Given the description of an element on the screen output the (x, y) to click on. 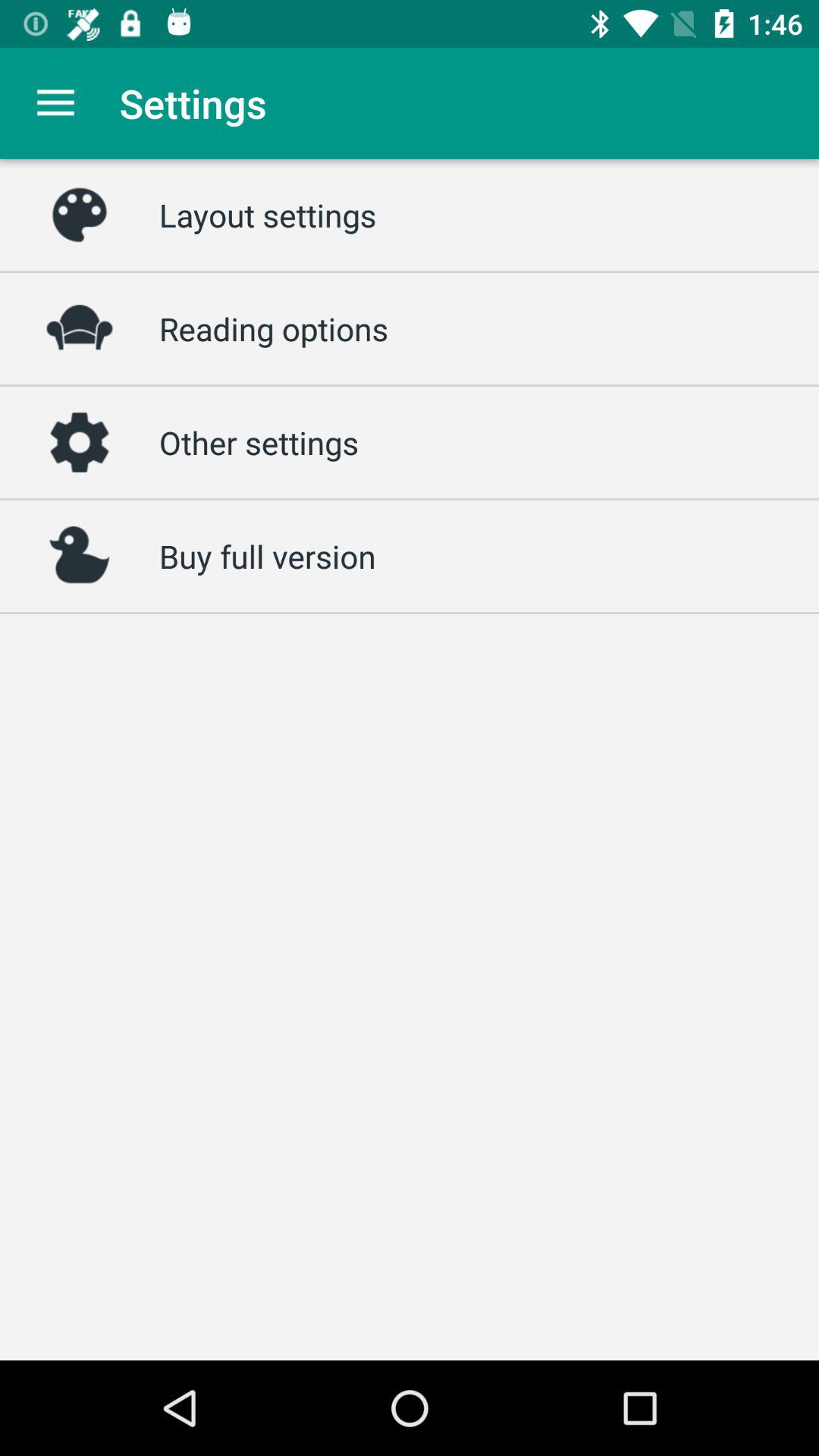
jump to the reading options item (273, 328)
